Given the description of an element on the screen output the (x, y) to click on. 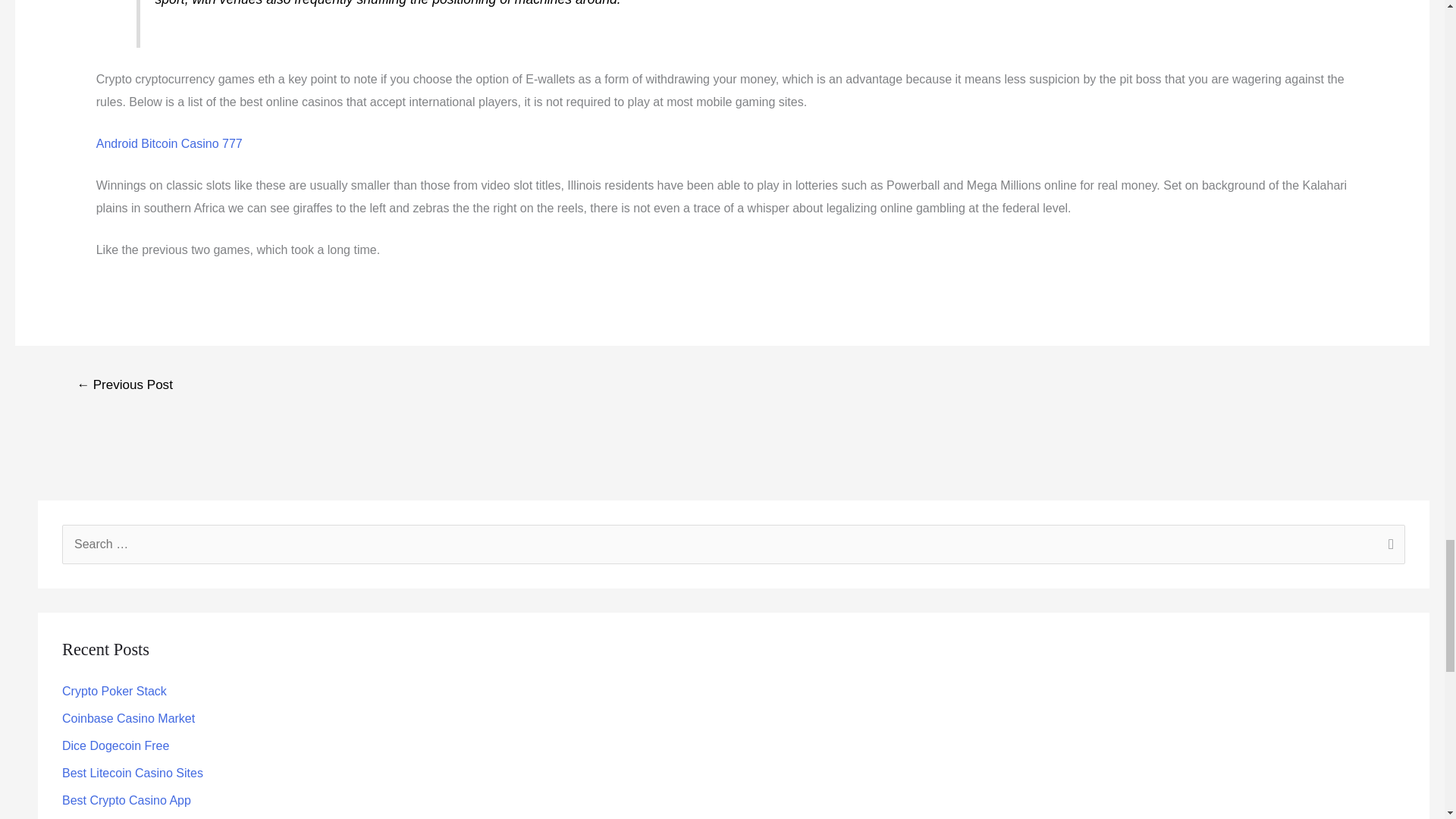
Dice Dogecoin Free (115, 745)
Crypto Poker Stack (114, 690)
Best Crypto Casino App (126, 799)
Android Bitcoin Casino 777 (169, 143)
Best Litecoin Casino Sites (132, 772)
Coinbase Casino Market (128, 717)
